Given the description of an element on the screen output the (x, y) to click on. 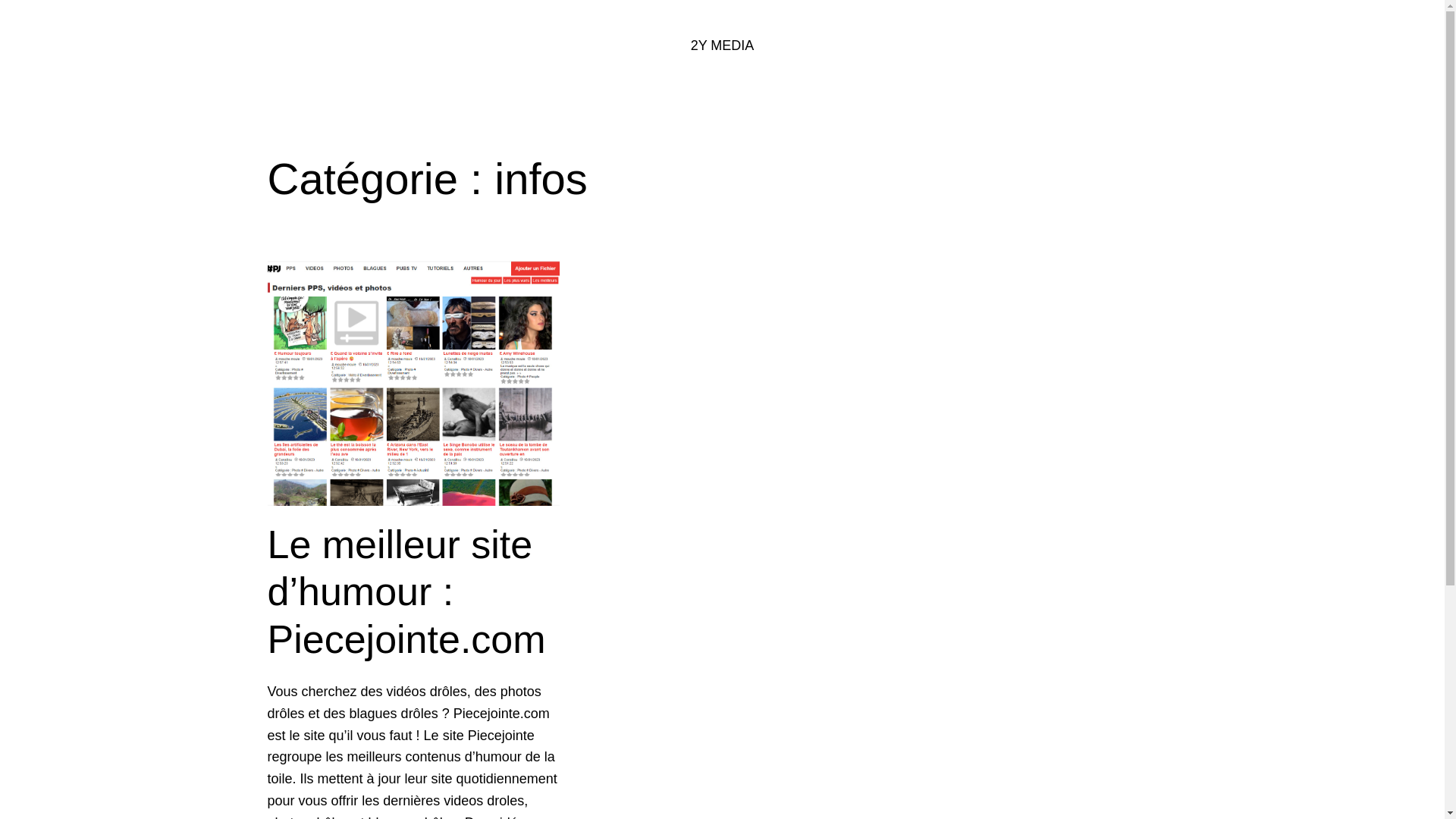
2Y MEDIA Element type: text (722, 45)
